Given the description of an element on the screen output the (x, y) to click on. 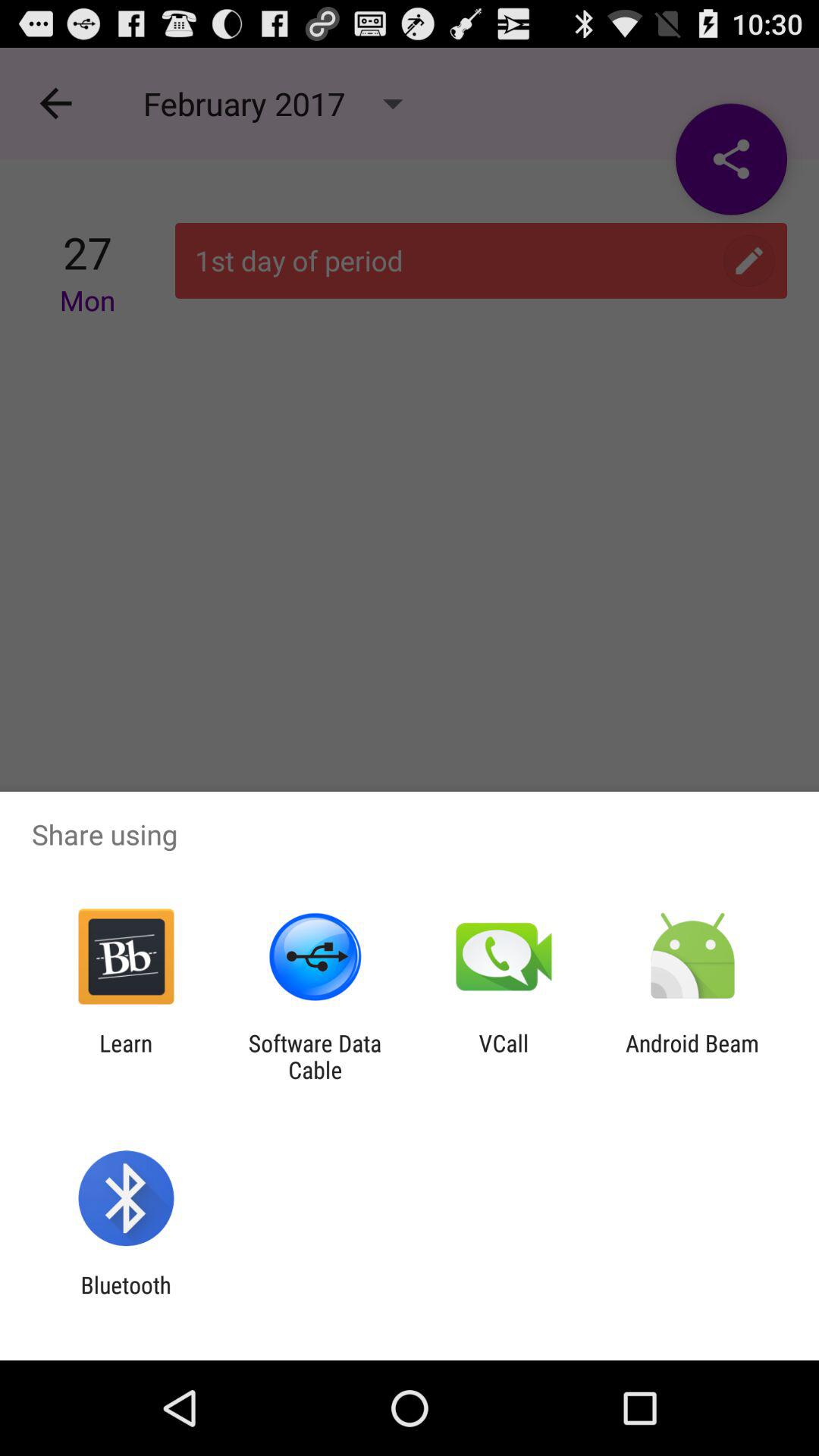
turn on icon to the right of vcall icon (692, 1056)
